Given the description of an element on the screen output the (x, y) to click on. 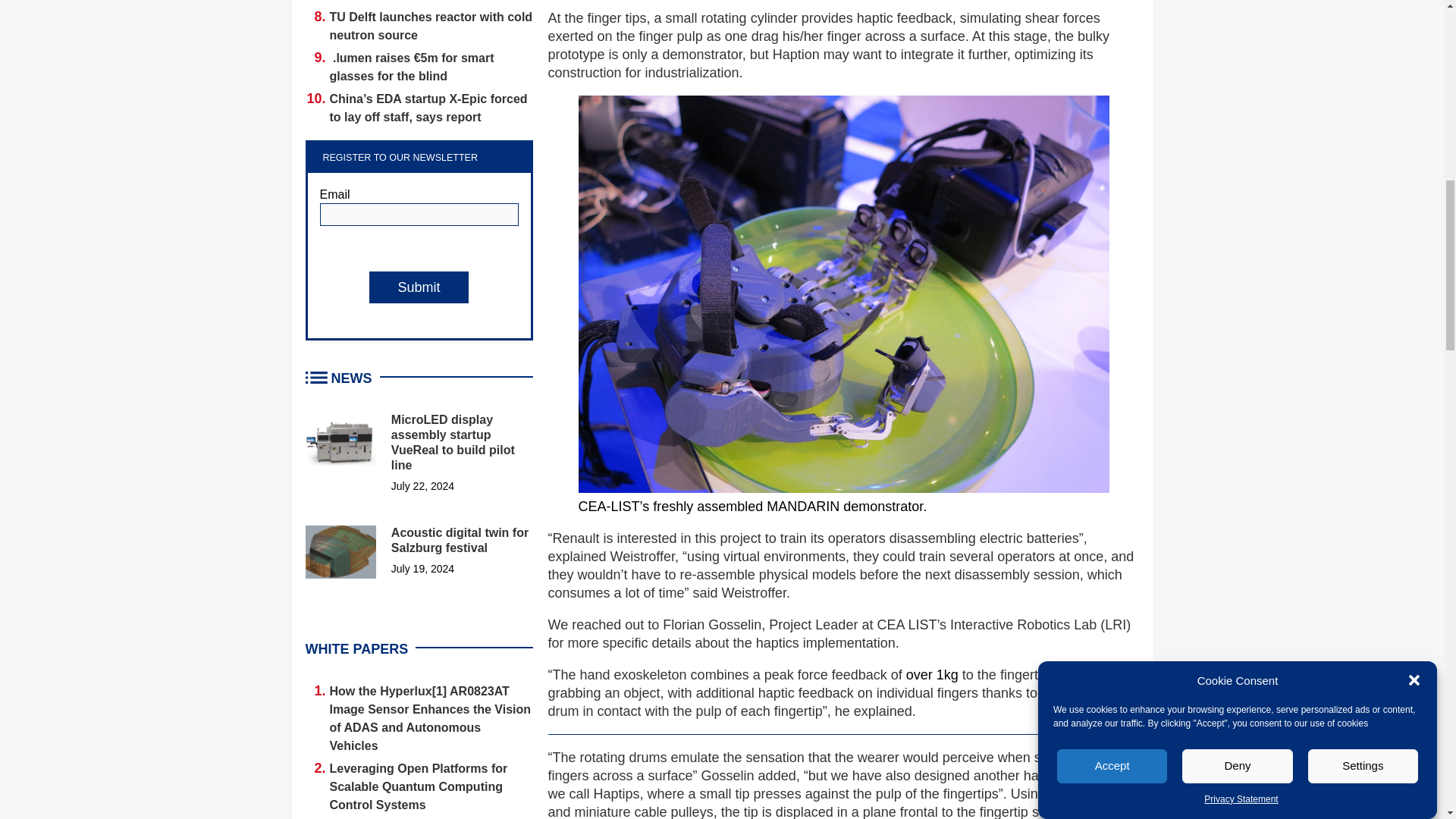
Settings (1362, 41)
Submit (418, 287)
Privacy Statement (1241, 27)
Deny (1237, 58)
Accept (1112, 76)
